Given the description of an element on the screen output the (x, y) to click on. 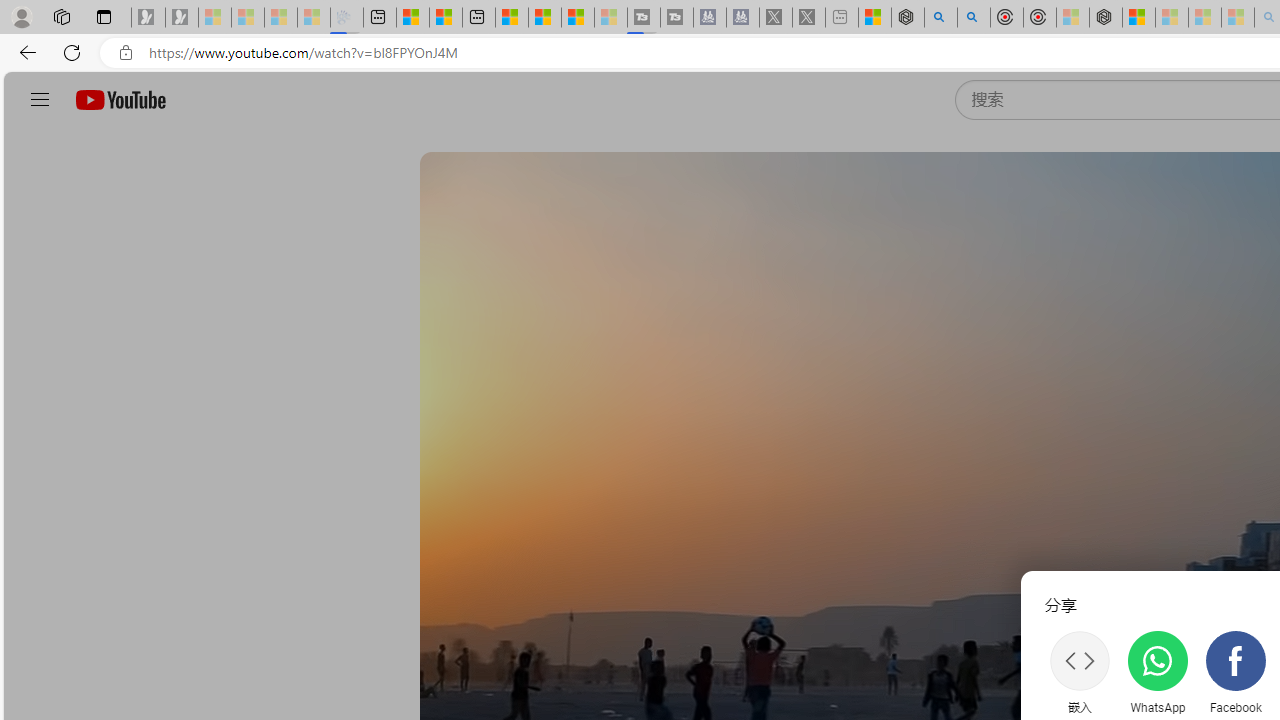
Nordace - Nordace Siena Is Not An Ordinary Backpack (1106, 17)
Newsletter Sign Up - Sleeping (182, 17)
